Given the description of an element on the screen output the (x, y) to click on. 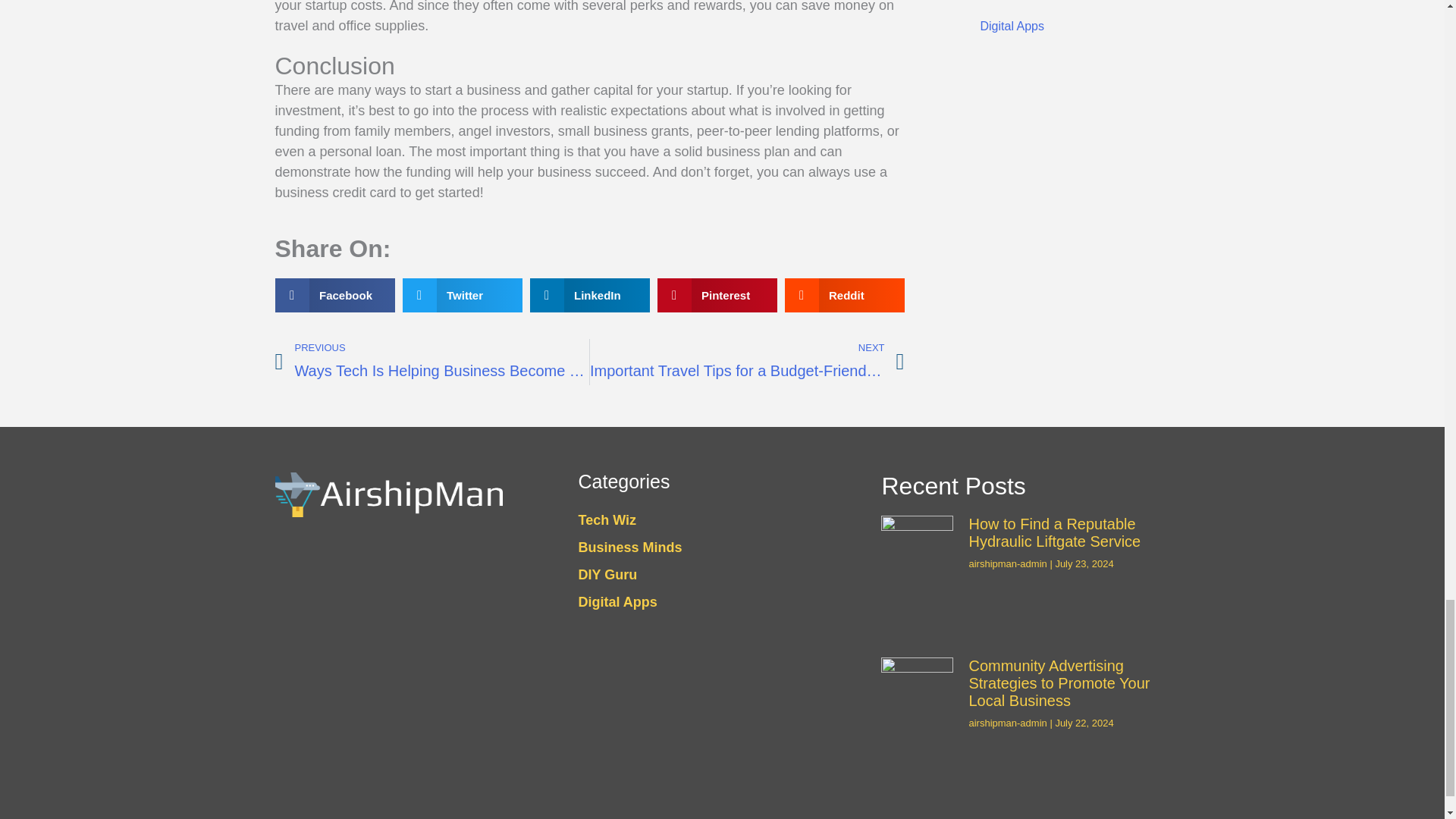
Digital Apps (1062, 26)
DIY Guru (1062, 4)
